Given the description of an element on the screen output the (x, y) to click on. 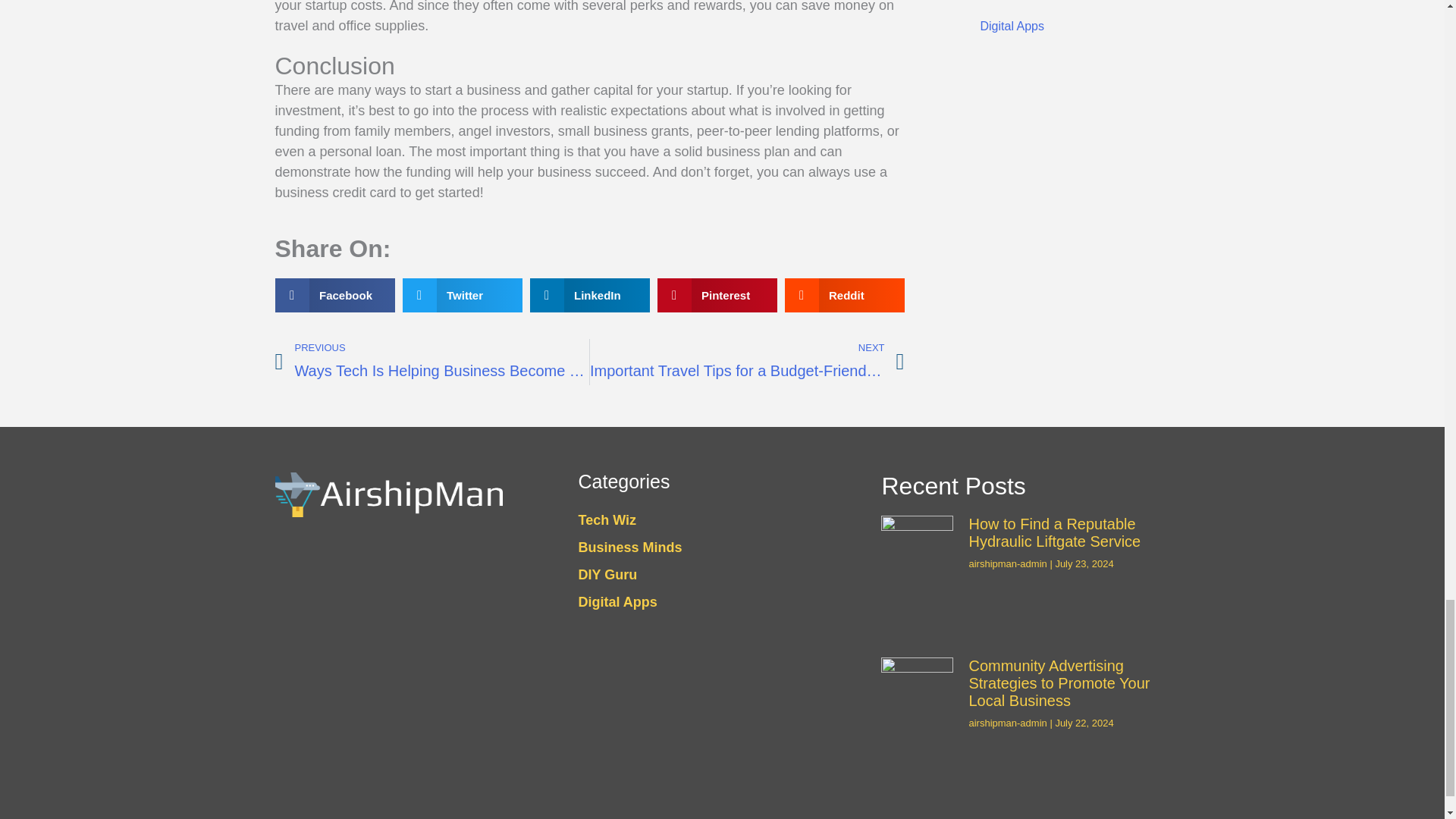
Digital Apps (1062, 26)
DIY Guru (1062, 4)
